Given the description of an element on the screen output the (x, y) to click on. 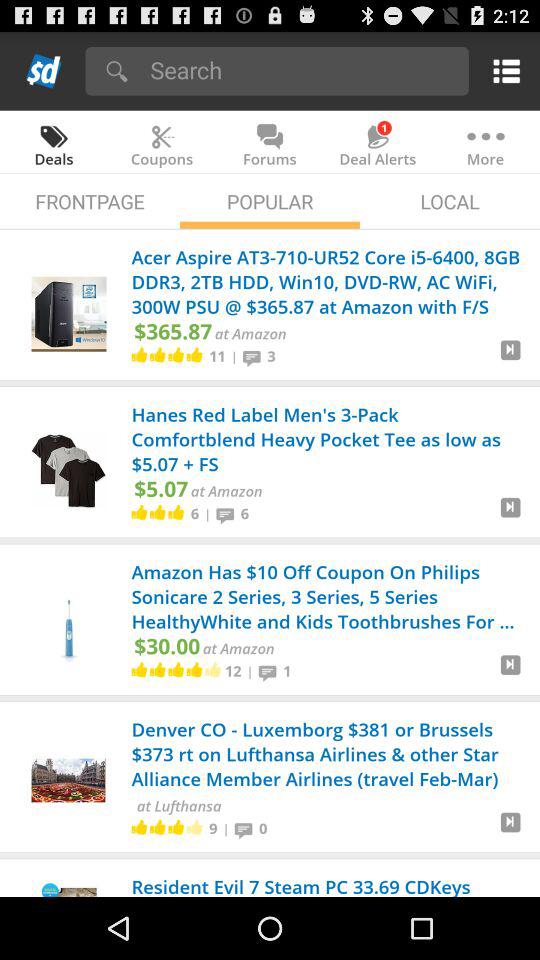
go to next page (510, 515)
